Given the description of an element on the screen output the (x, y) to click on. 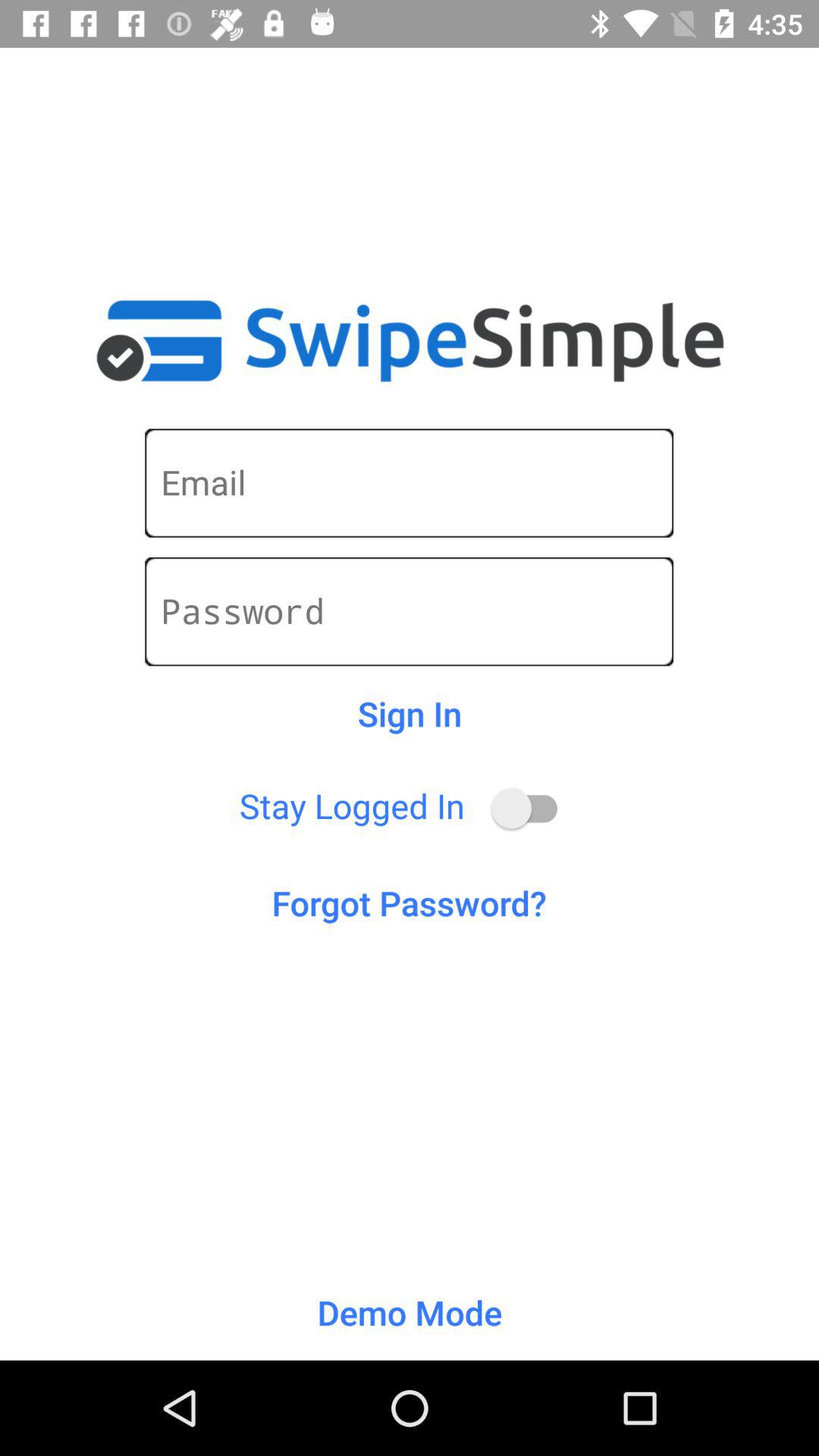
flip until demo mode item (409, 1312)
